Given the description of an element on the screen output the (x, y) to click on. 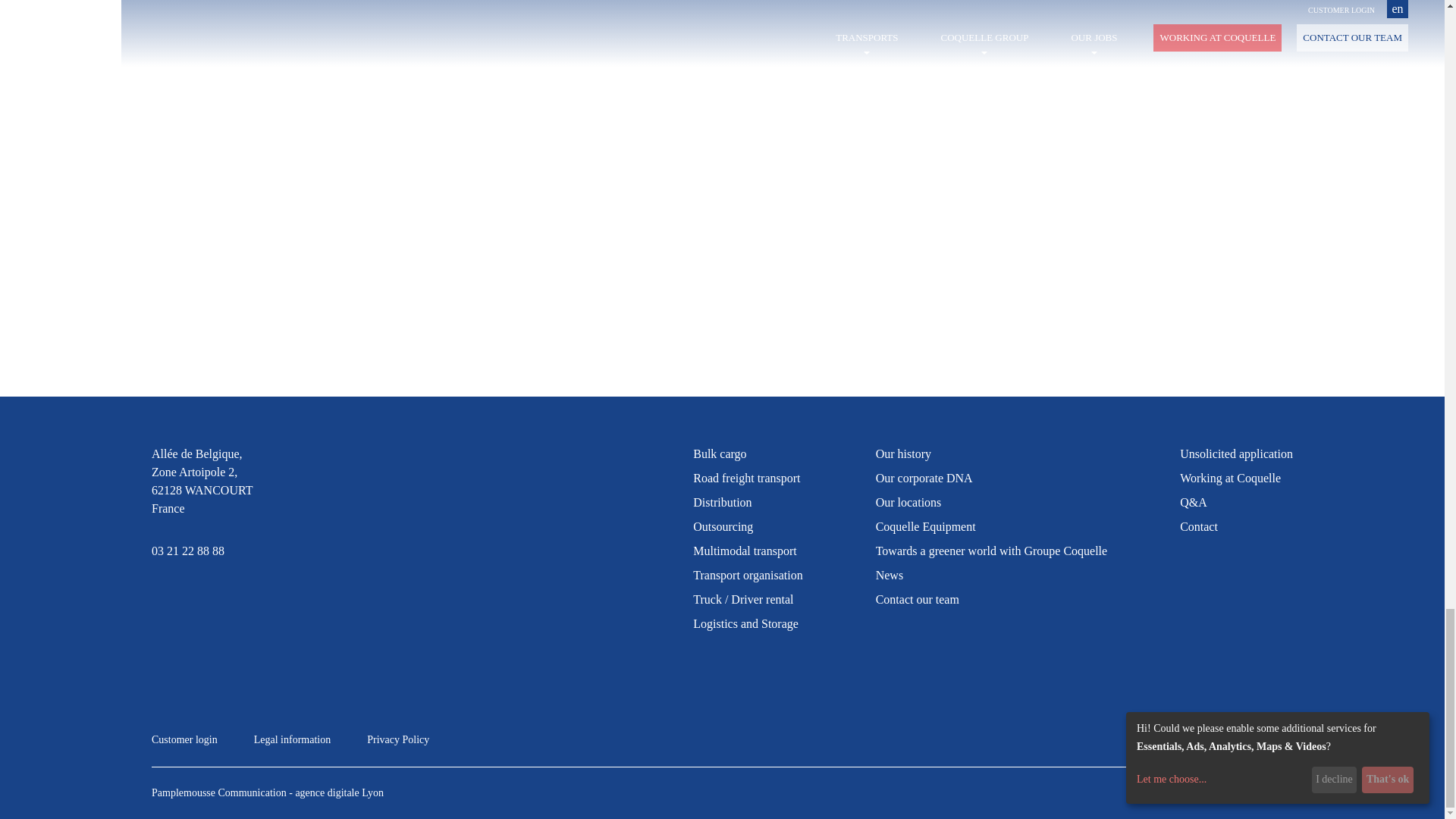
Transport organisation (747, 574)
03 21 22 88 88 (201, 551)
Our locations (909, 502)
Multimodal transport (744, 550)
Our corporate DNA (924, 477)
Coquelle Equipment (925, 526)
Road freight transport (746, 477)
Bulk cargo (719, 453)
Our history (903, 453)
Outsourcing (722, 526)
